Given the description of an element on the screen output the (x, y) to click on. 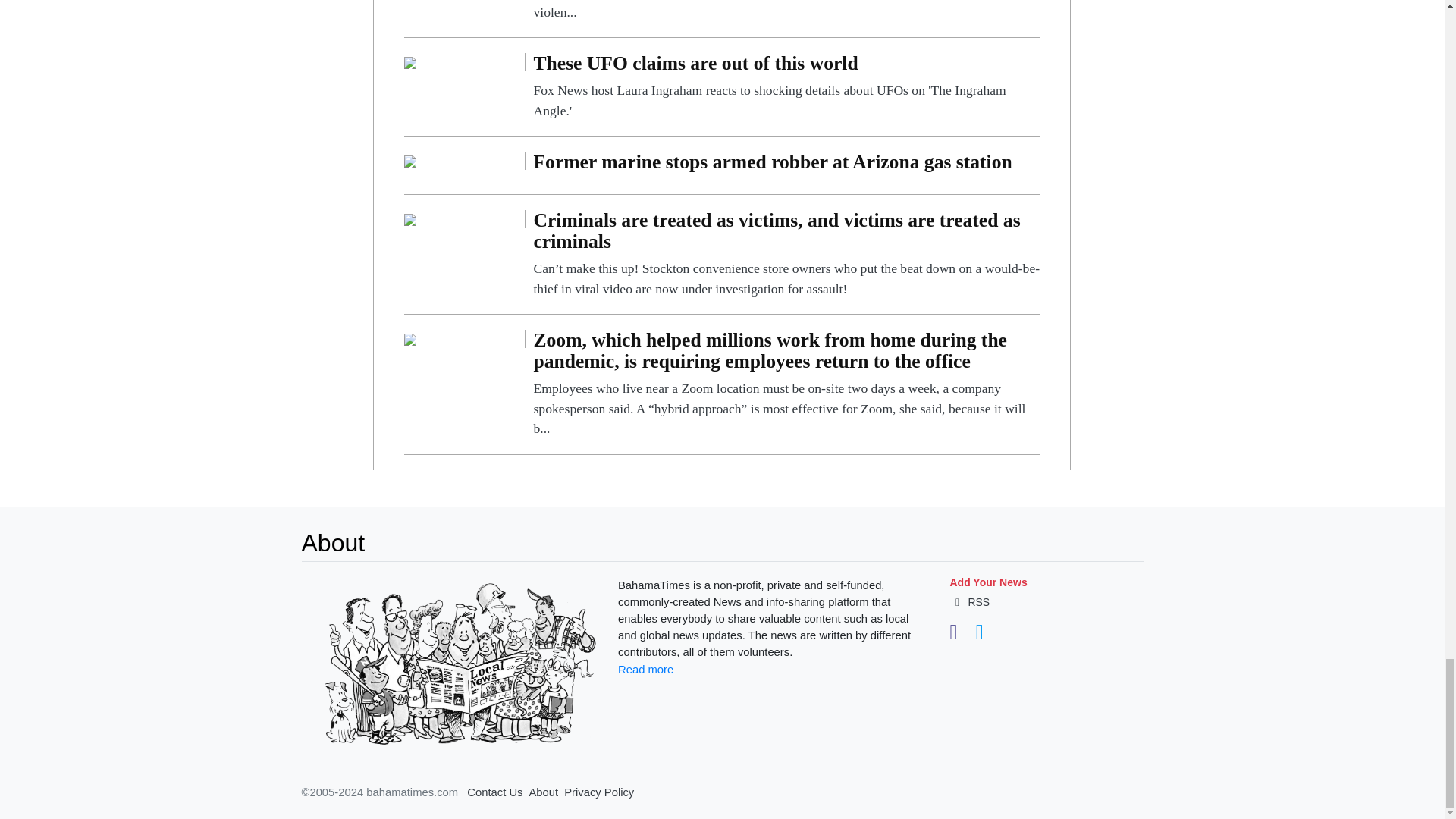
These UFO claims are out of this world (410, 61)
Former marine stops armed robber at Arizona gas station (785, 165)
RSS (969, 602)
Former marine stops armed robber at Arizona gas station (785, 165)
These UFO claims are out of this world (785, 86)
Former marine stops armed robber at Arizona gas station (410, 160)
Read more (644, 669)
Add Your News (987, 582)
